Given the description of an element on the screen output the (x, y) to click on. 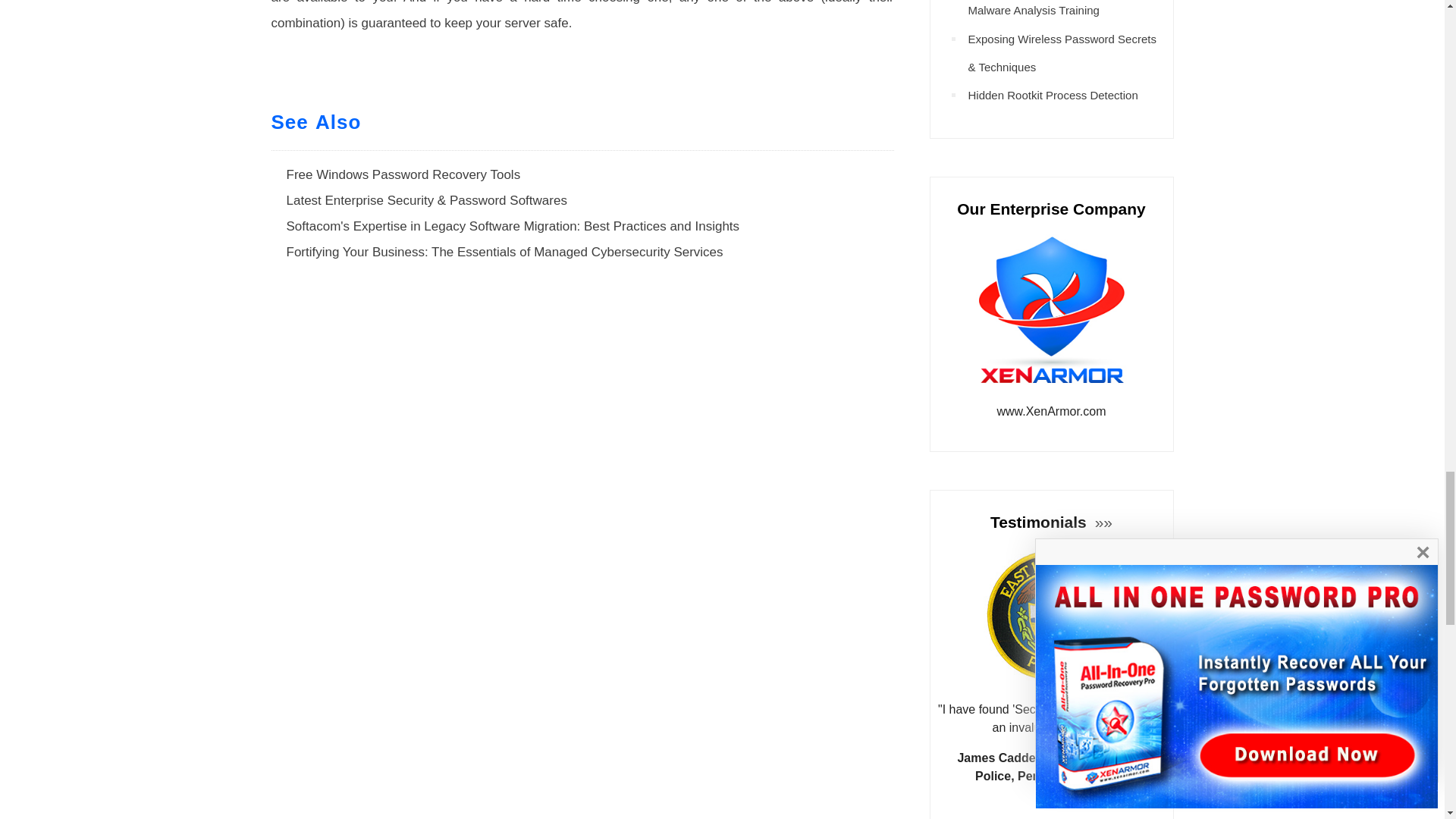
See More... (1101, 521)
Free Windows Password Recovery Tools (403, 174)
